Given the description of an element on the screen output the (x, y) to click on. 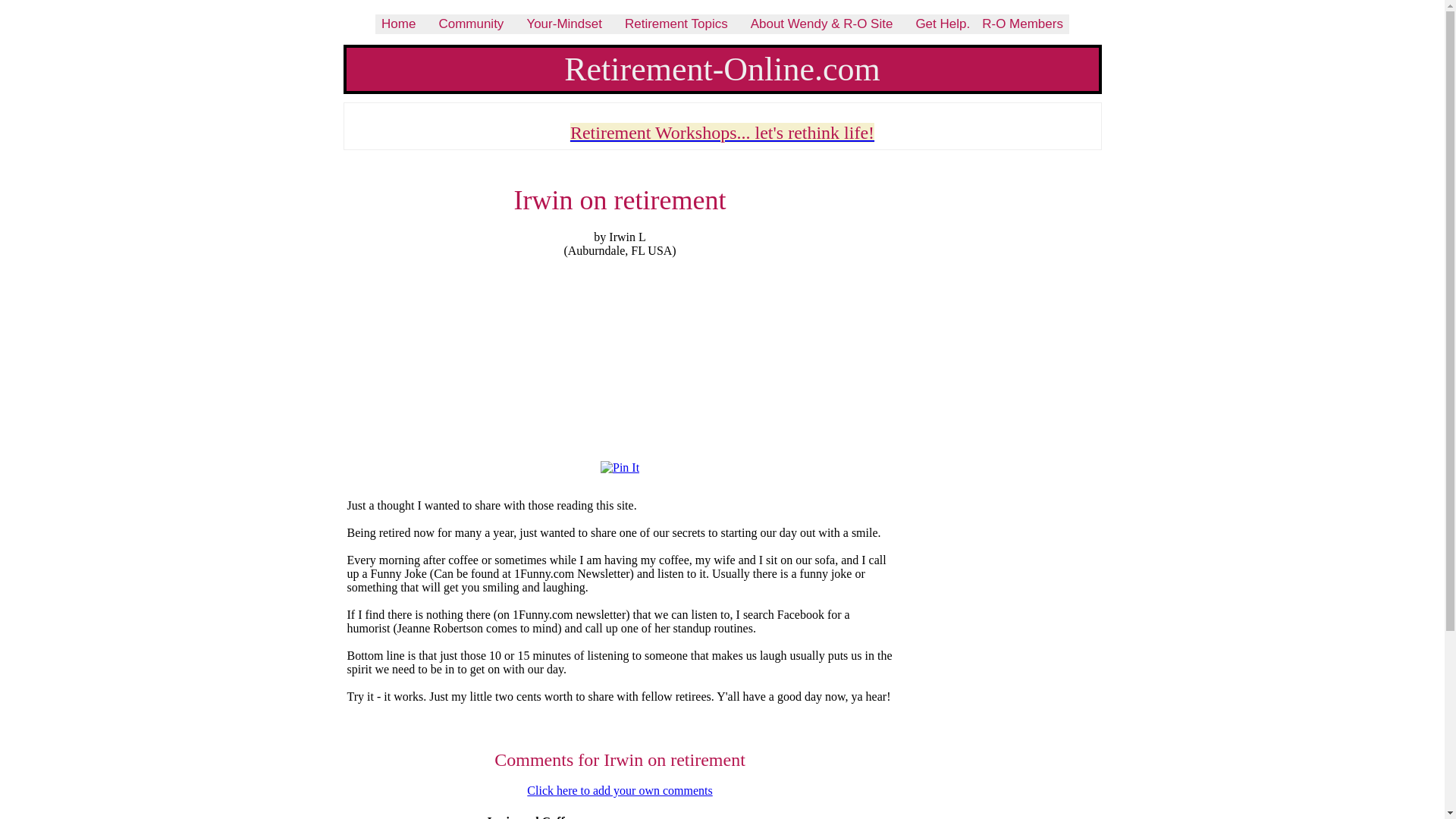
Home (398, 24)
Retirement-Online.com (722, 68)
Pin It (619, 468)
